Given the description of an element on the screen output the (x, y) to click on. 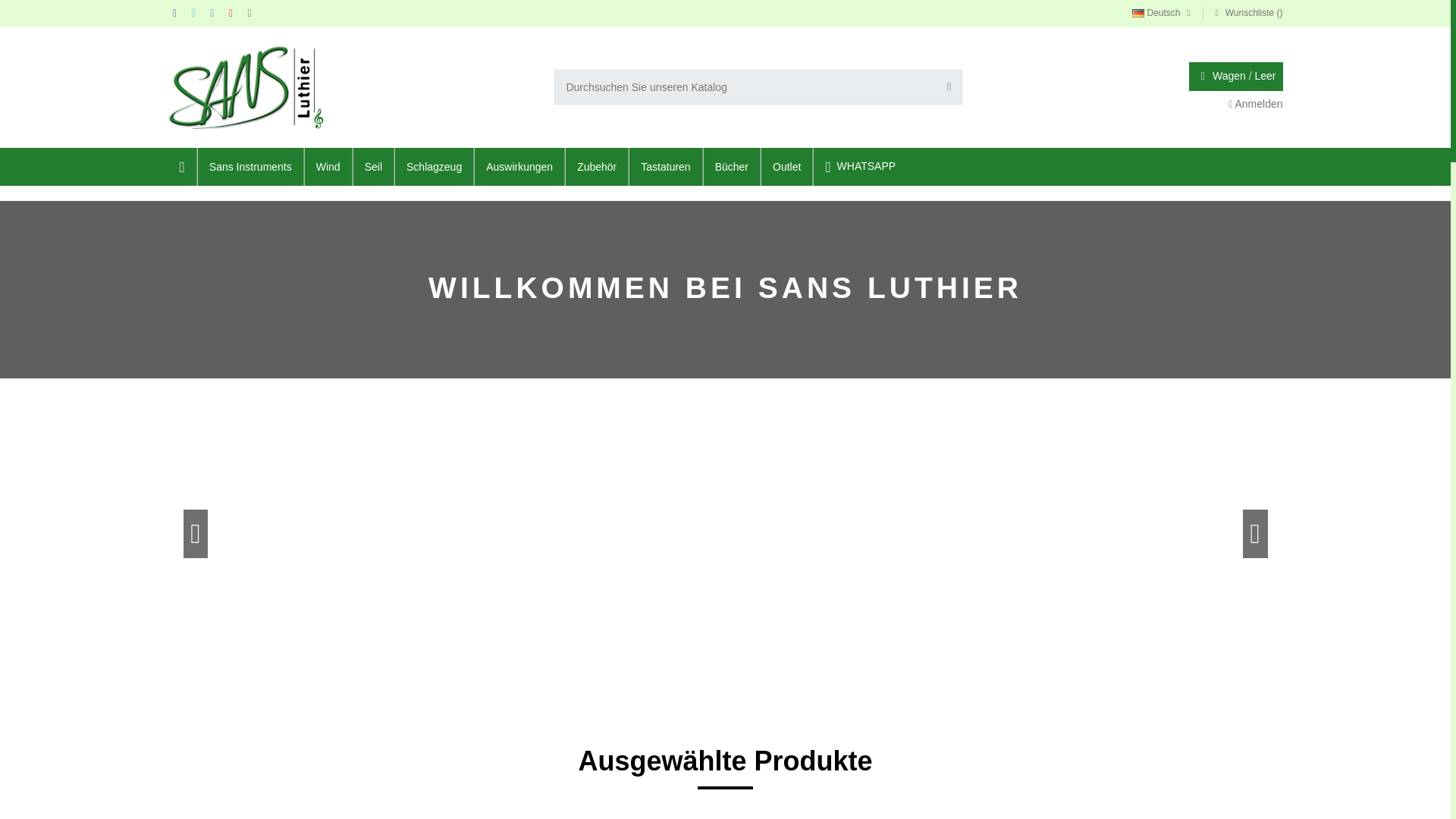
Deutsch (1162, 12)
Schlagzeug (433, 166)
Anmelden (1255, 103)
Sans Instruments (249, 166)
Auswirkungen (518, 166)
Outlet (786, 166)
Wind (1255, 103)
WHATSAPP (327, 166)
Tastaturen (859, 166)
Seil (664, 166)
